Given the description of an element on the screen output the (x, y) to click on. 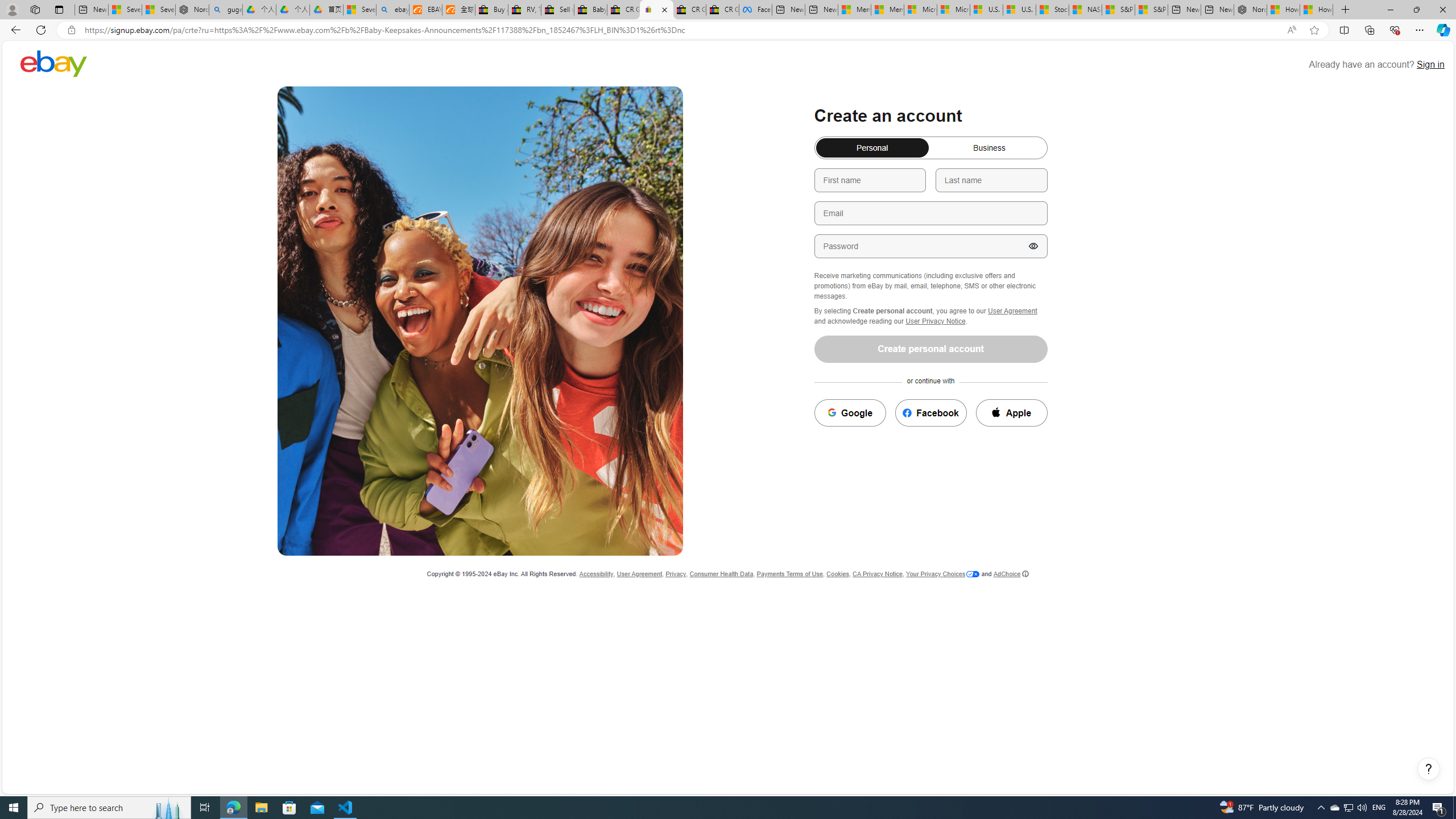
Apple (1011, 412)
Your Privacy Choices (942, 573)
